Given the description of an element on the screen output the (x, y) to click on. 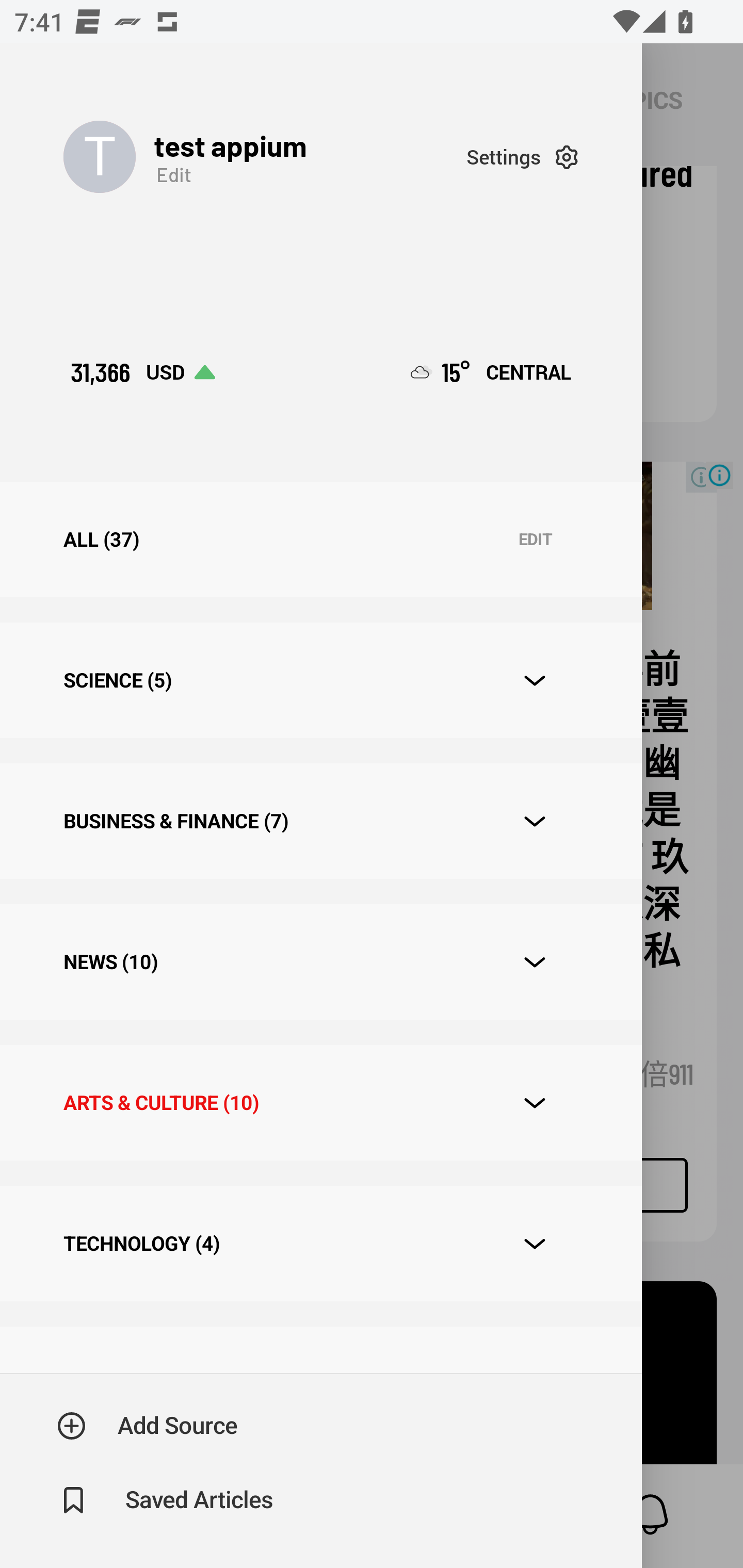
T test appium Edit (264, 156)
Settings Select News Style (522, 156)
31,366 USD Current State of the Currency (142, 372)
Current State of the Weather 15° CENTRAL (490, 372)
ALL  (37) EDIT (320, 539)
EDIT (534, 540)
SCIENCE  (5) Expand Button (320, 680)
Expand Button (534, 681)
BUSINESS & FINANCE  (7) Expand Button (320, 821)
Expand Button (534, 821)
NEWS  (10) Expand Button (320, 961)
Expand Button (534, 961)
ARTS & CULTURE  (10) Expand Button (320, 1102)
Expand Button (534, 1102)
TECHNOLOGY  (4) Expand Button (320, 1243)
Expand Button (534, 1244)
Open Content Store Add Source (147, 1425)
Open Saved News  Saved Articles (166, 1500)
